Given the description of an element on the screen output the (x, y) to click on. 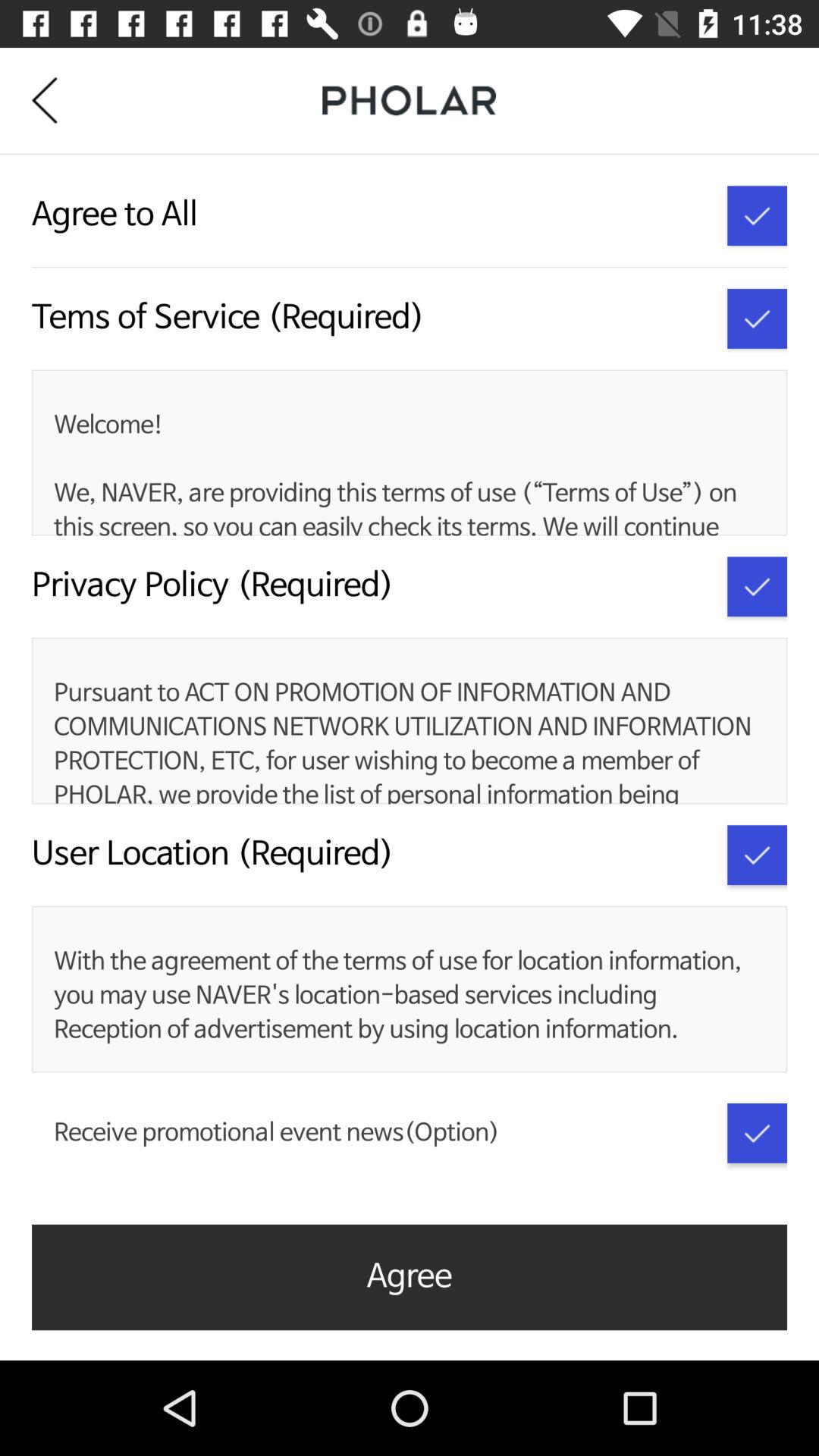
tap icon at the top left corner (55, 100)
